Given the description of an element on the screen output the (x, y) to click on. 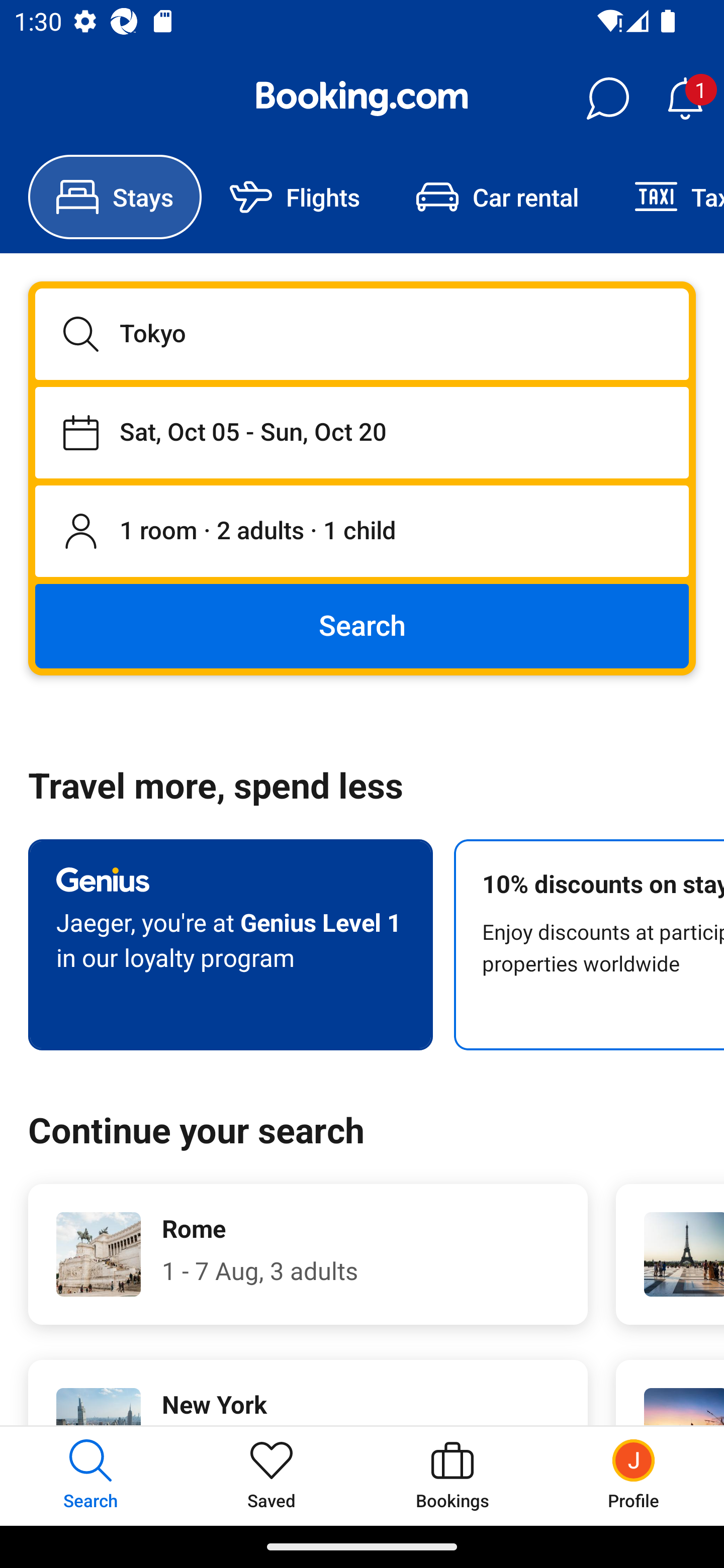
Messages (607, 98)
Notifications (685, 98)
Stays (114, 197)
Flights (294, 197)
Car rental (497, 197)
Taxi (665, 197)
Tokyo (361, 333)
Staying from Sat, Oct 05 until Sun, Oct 20 (361, 432)
1 room, 2 adults, 1 child (361, 531)
Search (361, 625)
Rome 1 - 7 Aug, 3 adults (307, 1253)
Saved (271, 1475)
Bookings (452, 1475)
Profile (633, 1475)
